Given the description of an element on the screen output the (x, y) to click on. 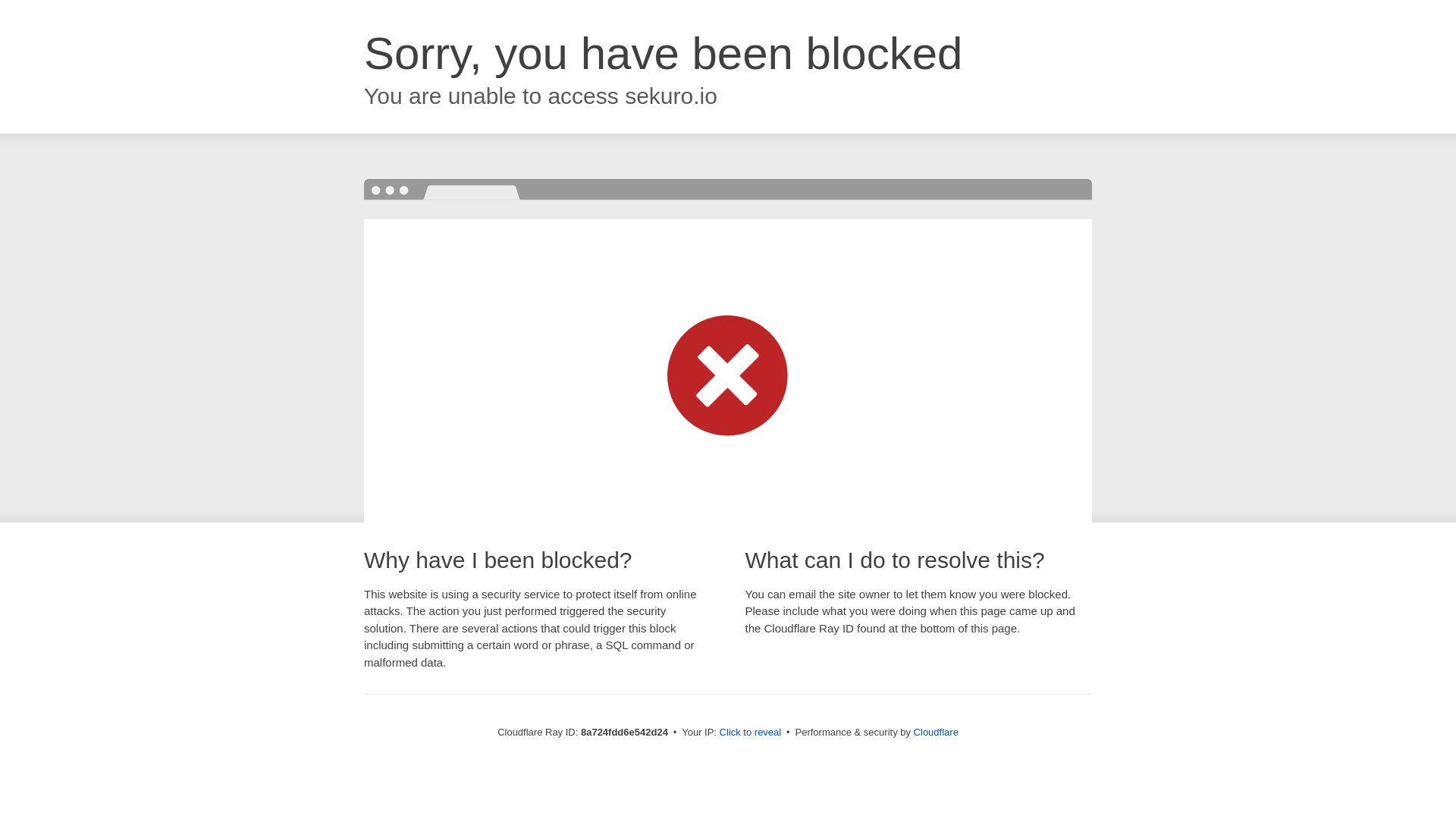
Click to reveal (750, 732)
Cloudflare (936, 731)
